Given the description of an element on the screen output the (x, y) to click on. 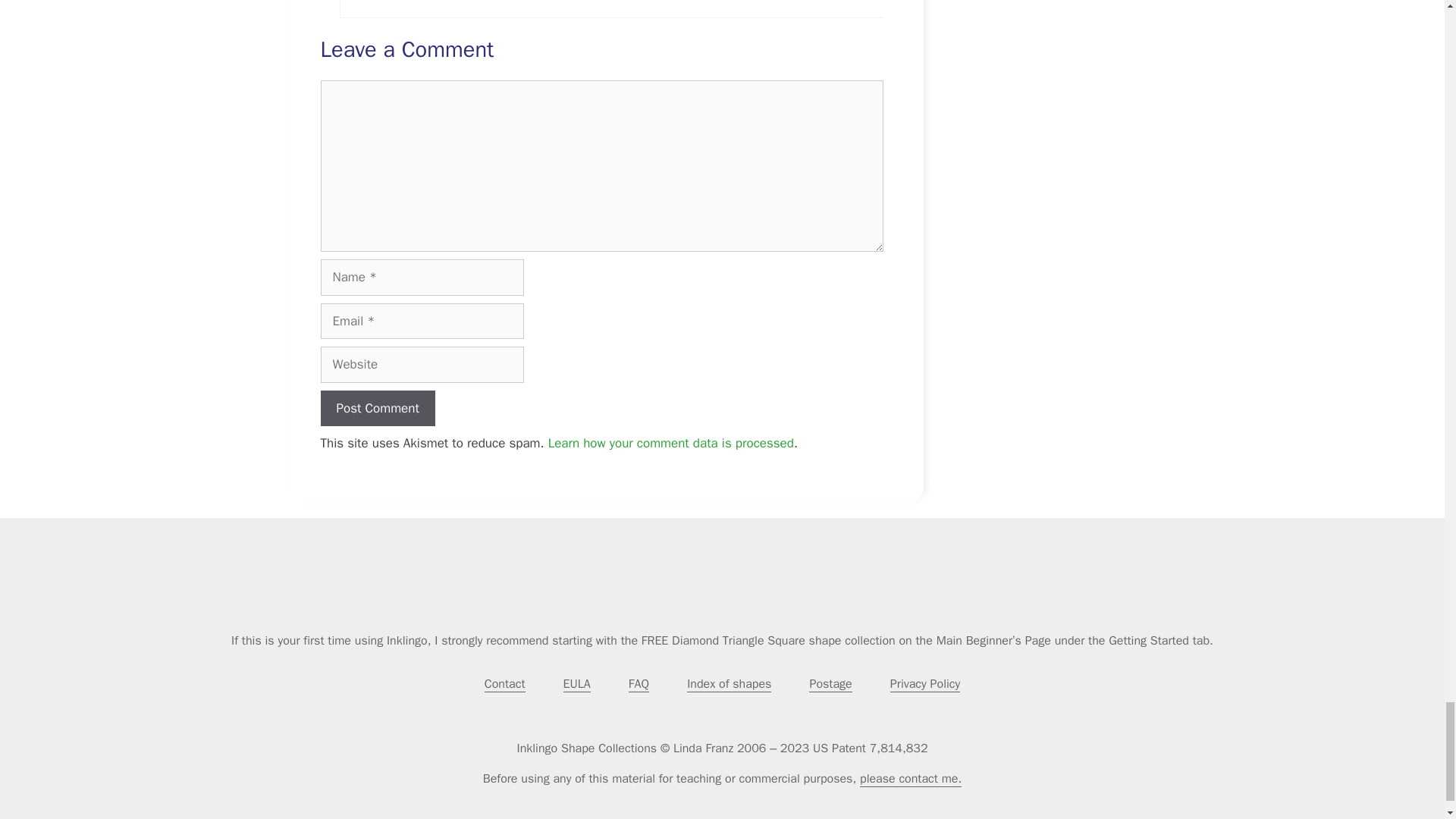
Post Comment (376, 408)
